Given the description of an element on the screen output the (x, y) to click on. 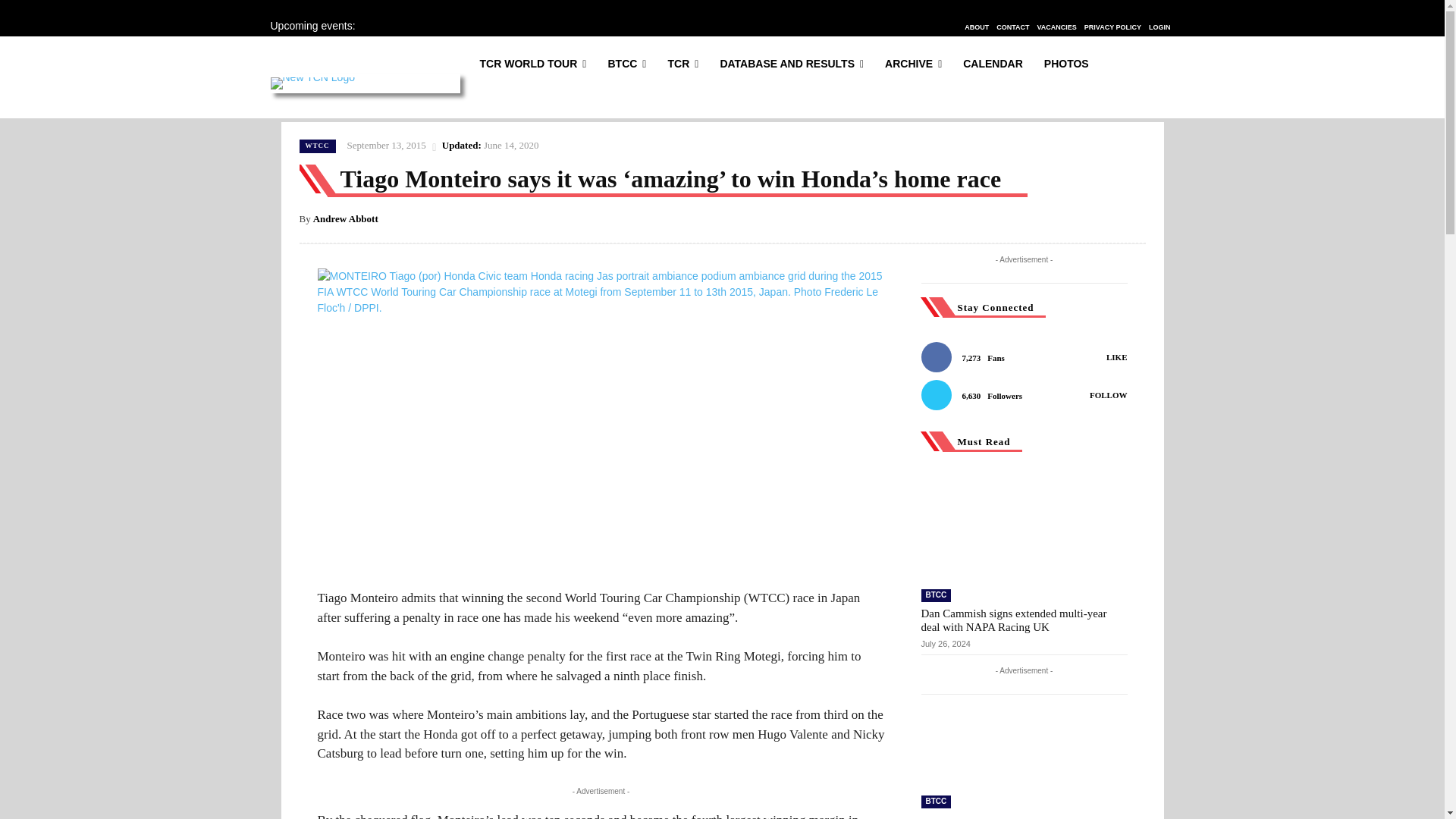
New TCN Logo (311, 82)
